Given the description of an element on the screen output the (x, y) to click on. 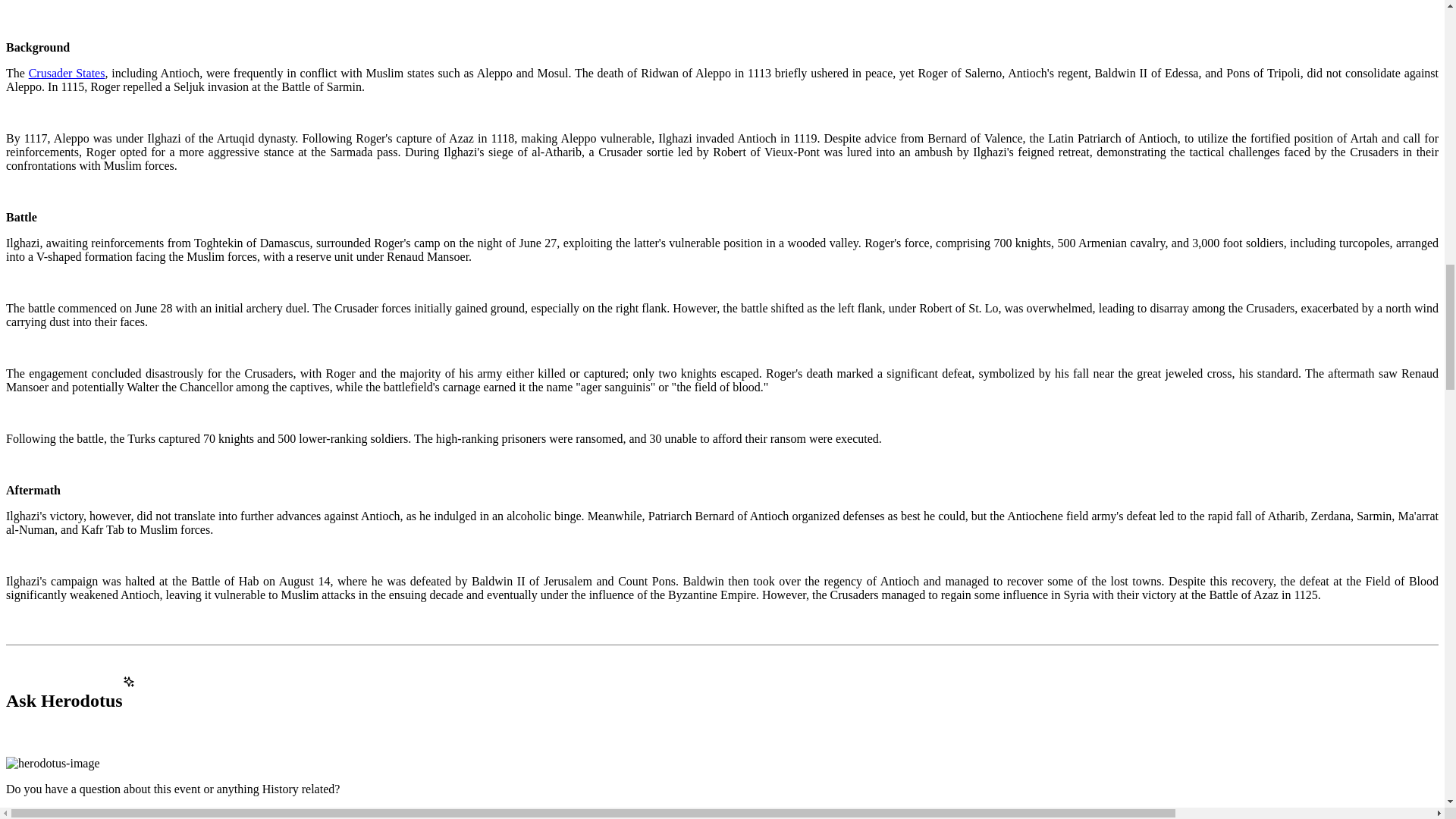
Crusader States (66, 72)
